Given the description of an element on the screen output the (x, y) to click on. 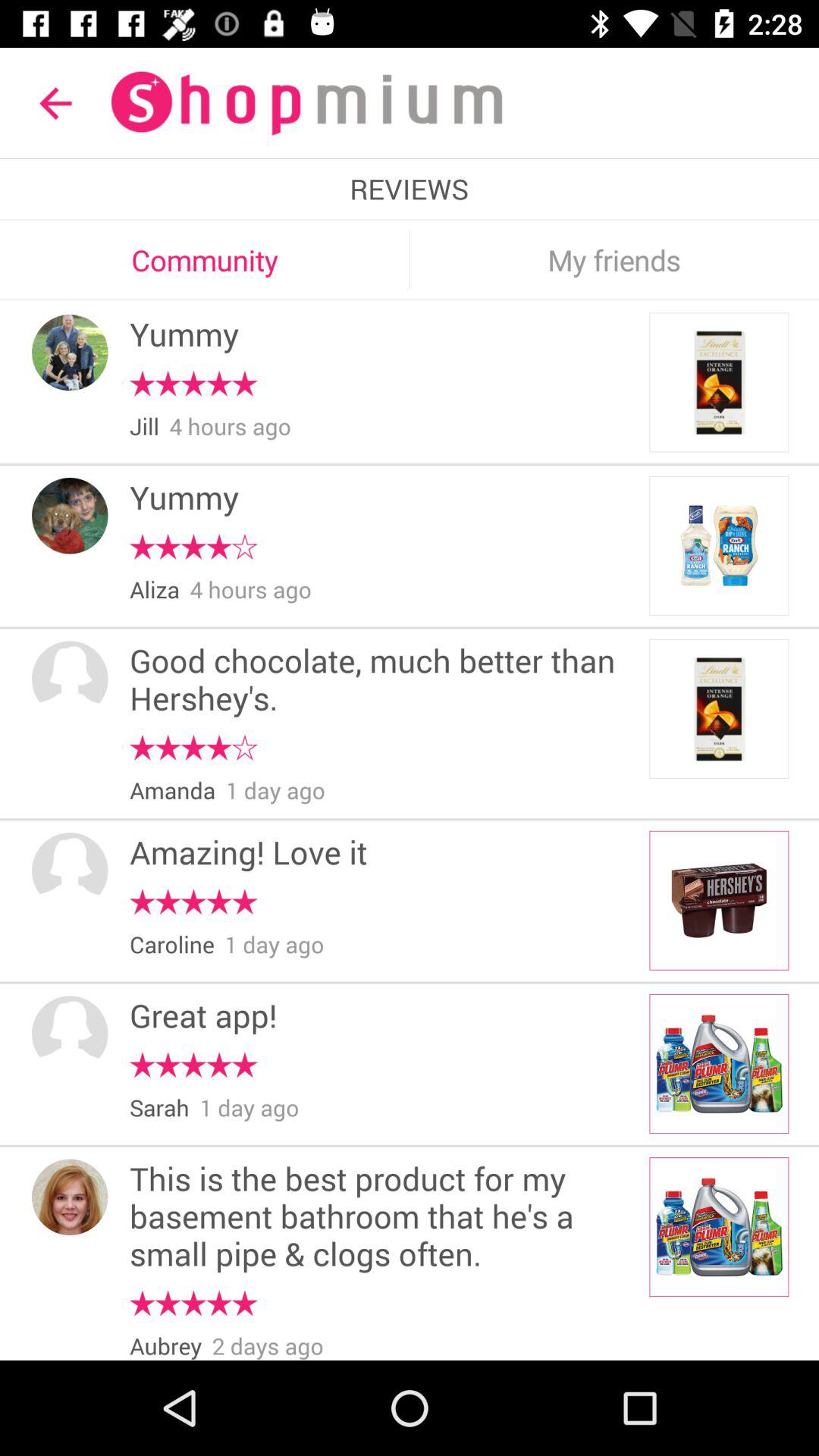
click the icon to the right of aubrey item (267, 1345)
